Given the description of an element on the screen output the (x, y) to click on. 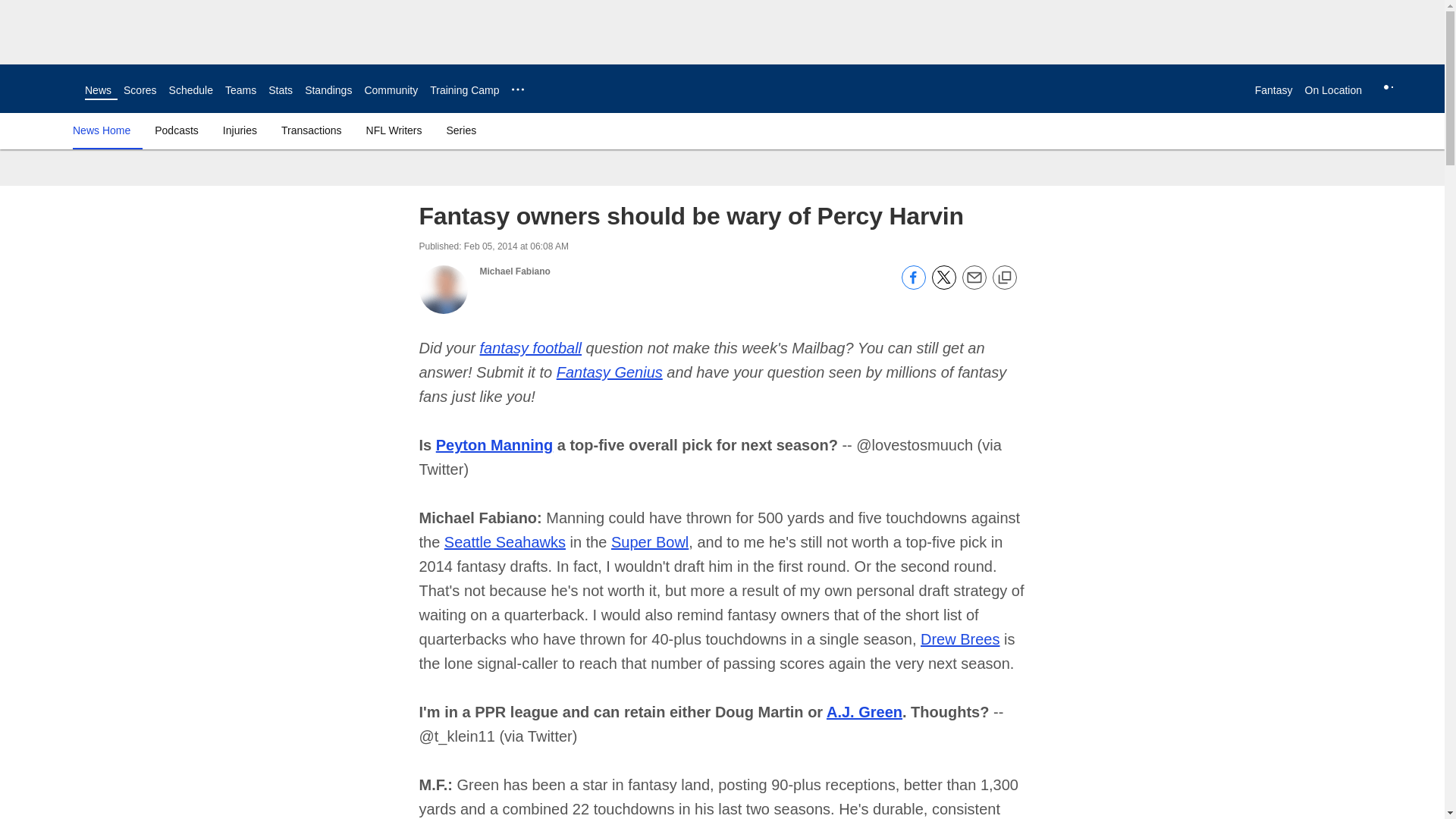
Teams (240, 90)
Scores (140, 90)
Stats (279, 90)
News (98, 90)
Link to NFL homepage (42, 88)
Schedule (190, 90)
News (98, 90)
Schedule (190, 90)
Scores (140, 90)
Teams (240, 90)
